Given the description of an element on the screen output the (x, y) to click on. 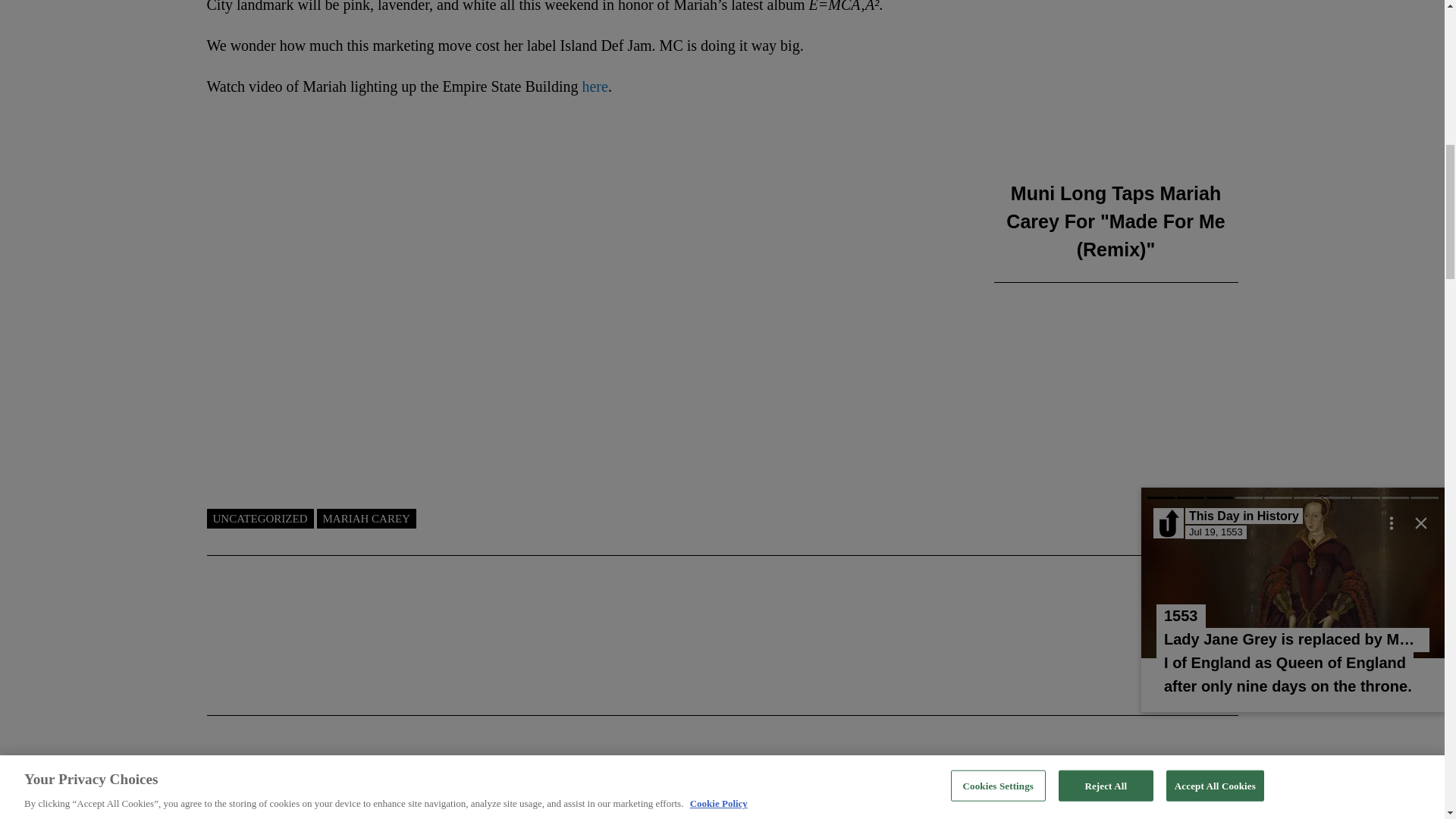
UNCATEGORIZED (259, 518)
MARIAH CAREY (366, 518)
here (593, 86)
